Given the description of an element on the screen output the (x, y) to click on. 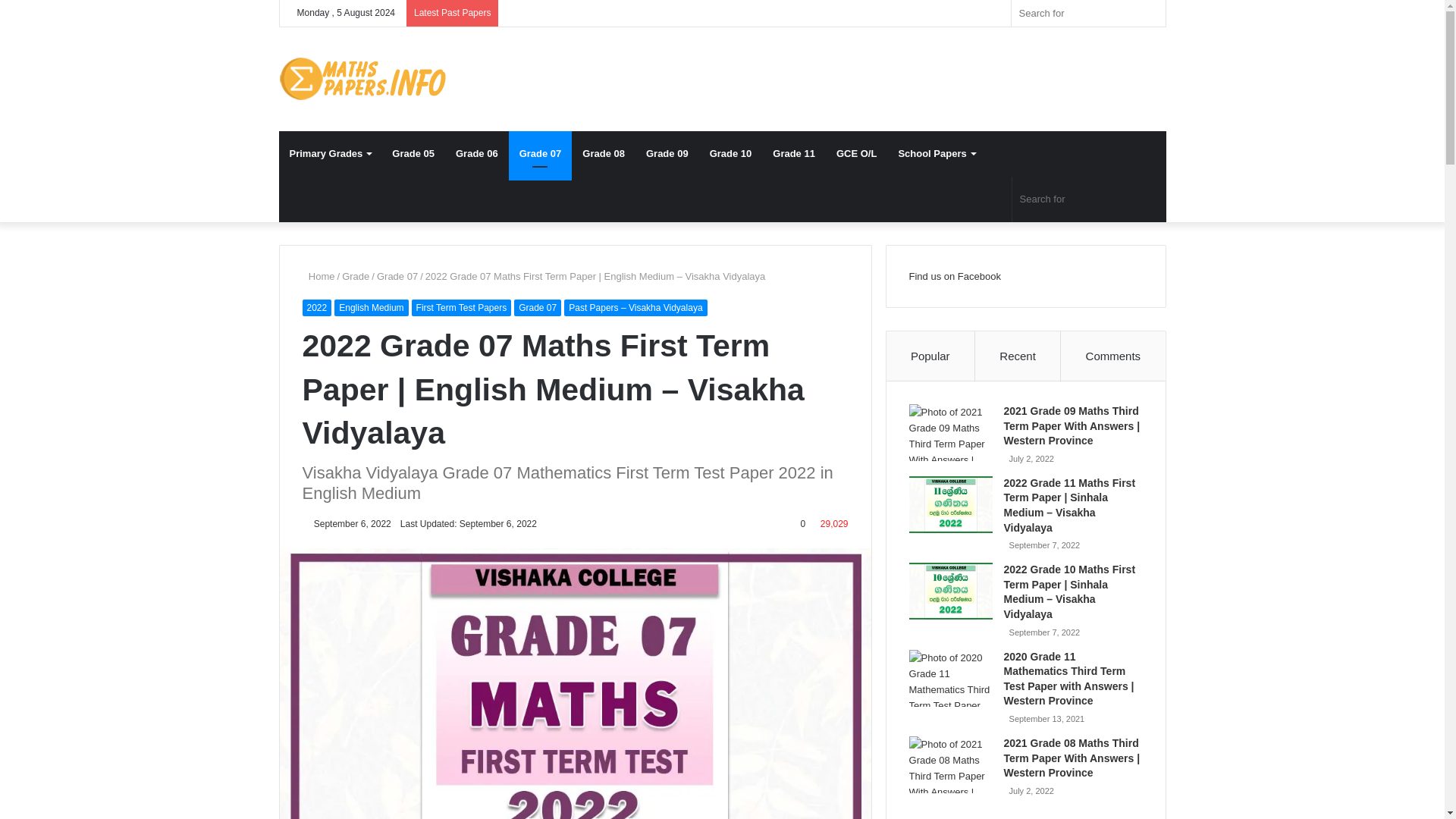
Grade 10 (730, 153)
First Term Test Papers (462, 307)
Grade 07 (540, 153)
English Medium (370, 307)
Maths Papers.Info (362, 78)
Primary Grades (330, 153)
Grade 09 (666, 153)
Grade 08 (603, 153)
Grade 07 (397, 276)
Home (317, 276)
